Given the description of an element on the screen output the (x, y) to click on. 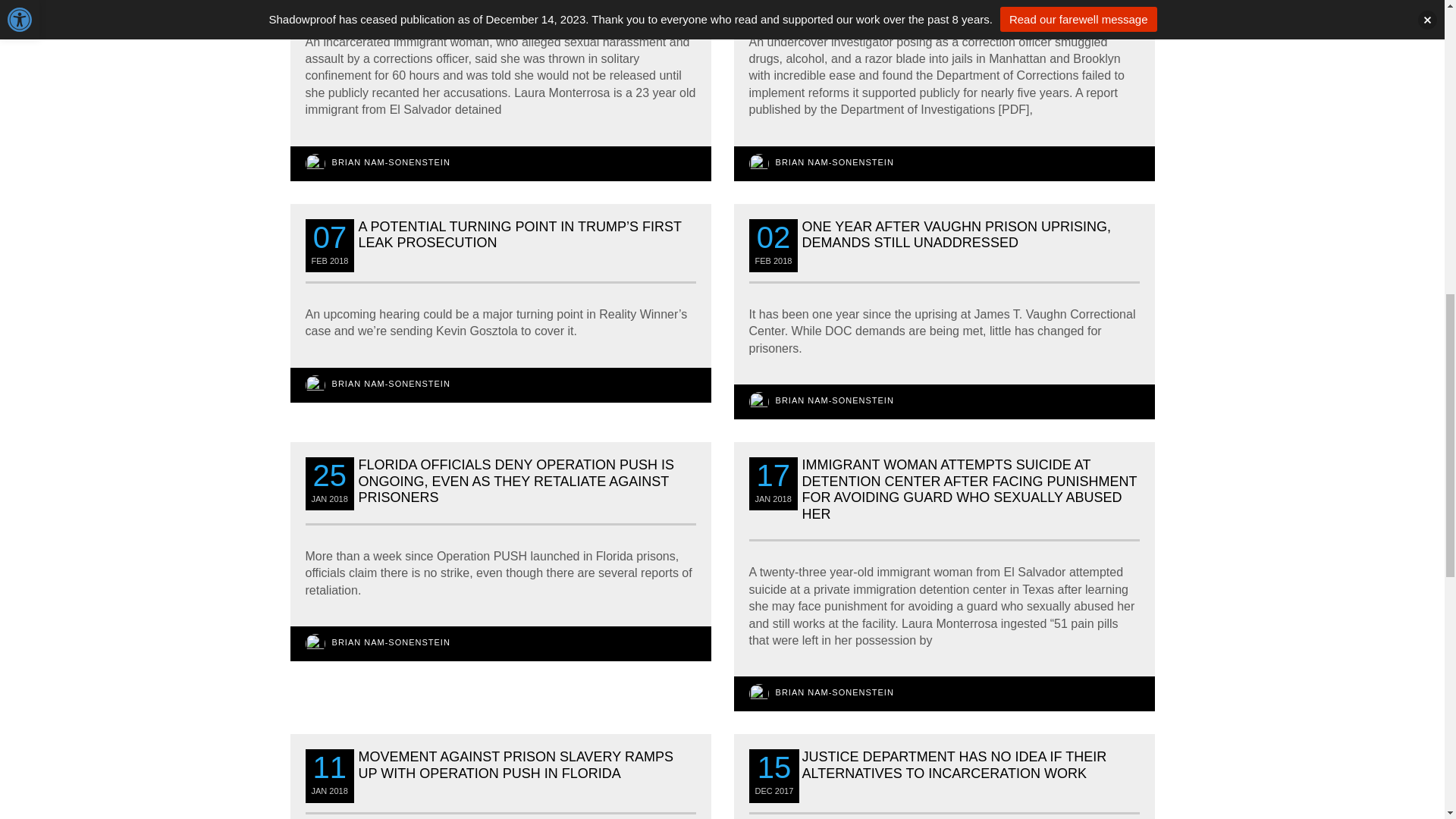
View all posts by Brian Nam-Sonenstein (390, 162)
